Given the description of an element on the screen output the (x, y) to click on. 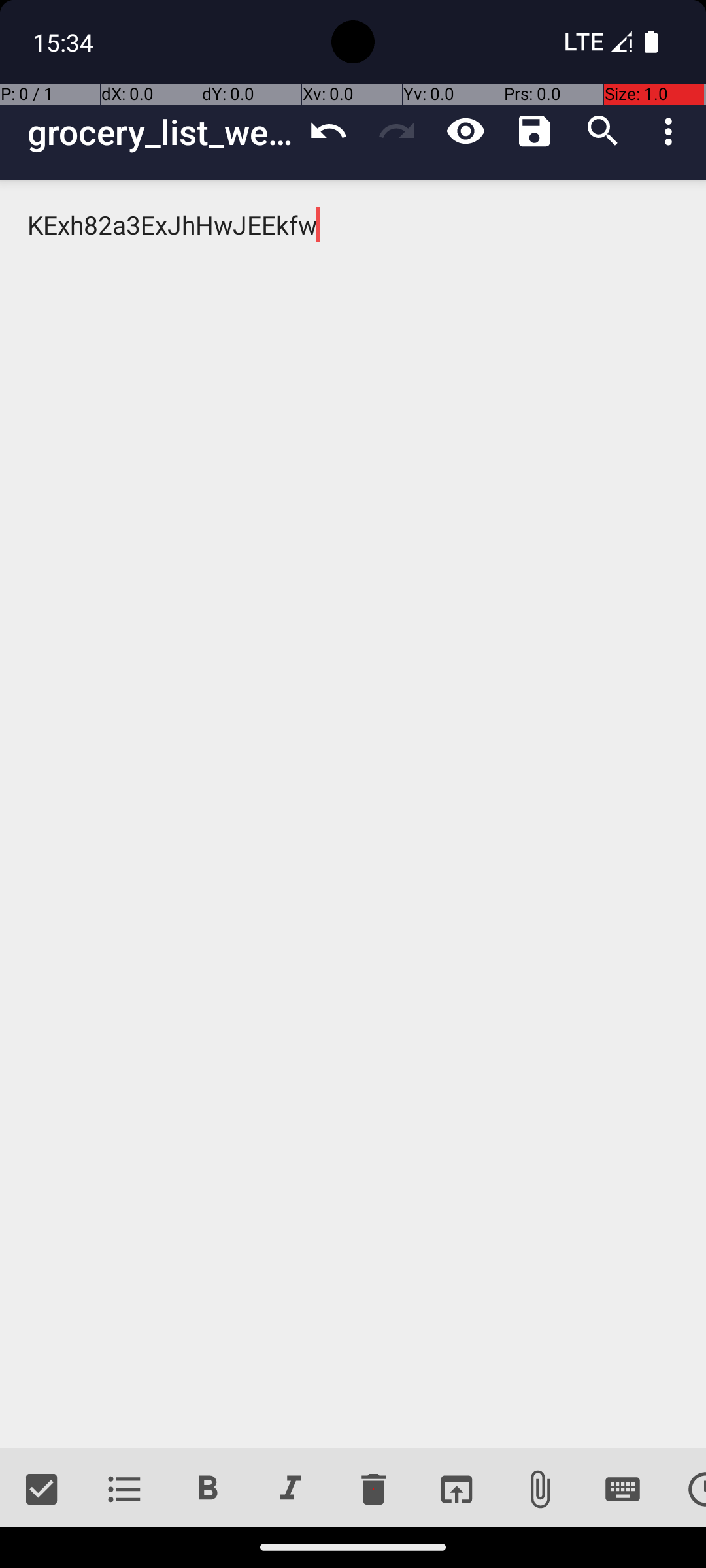
grocery_list_weekly_XyAc Element type: android.widget.TextView (160, 131)
Undo Element type: android.widget.TextView (328, 131)
Redo Element type: android.widget.TextView (396, 131)
View mode Element type: android.widget.TextView (465, 131)
KExh82a3ExJhHwJEEkfw Element type: android.widget.EditText (353, 813)
Check list Element type: android.widget.ImageView (41, 1488)
Unordered list Element type: android.widget.ImageView (124, 1488)
Bold Element type: android.widget.ImageView (207, 1488)
Italic Element type: android.widget.ImageView (290, 1488)
Delete lines Element type: android.widget.ImageView (373, 1488)
Open link Element type: android.widget.ImageView (456, 1488)
Attach Element type: android.widget.ImageView (539, 1488)
Special Key Element type: android.widget.ImageView (622, 1488)
Date and time Element type: android.widget.ImageView (685, 1488)
